Given the description of an element on the screen output the (x, y) to click on. 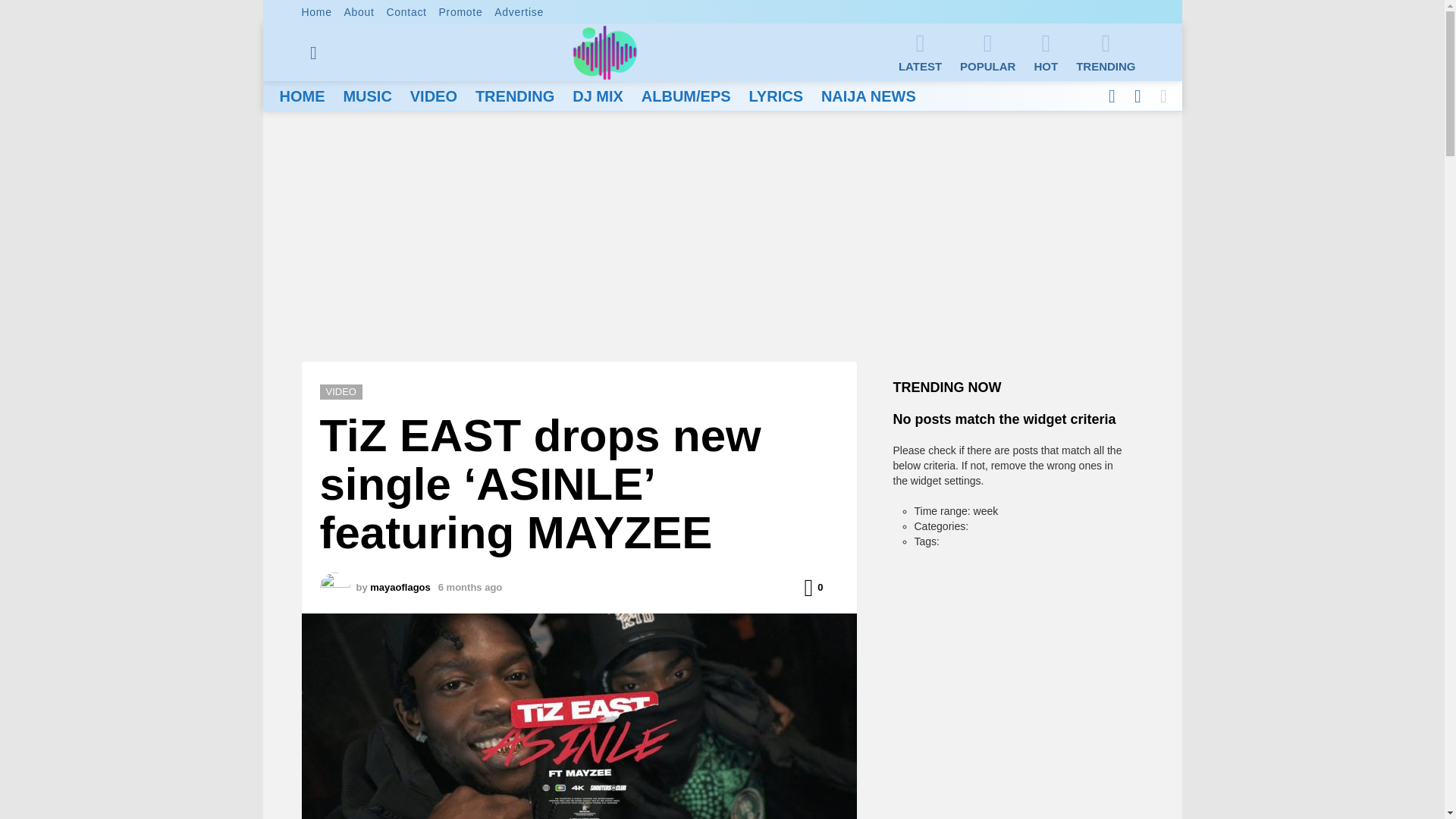
mayaoflagos (399, 586)
TRENDING (1105, 51)
TRENDING (514, 96)
DJ MIX (597, 96)
Menu (313, 52)
LYRICS (775, 96)
VIDEO (433, 96)
VIDEO (341, 391)
Contact (406, 12)
